Given the description of an element on the screen output the (x, y) to click on. 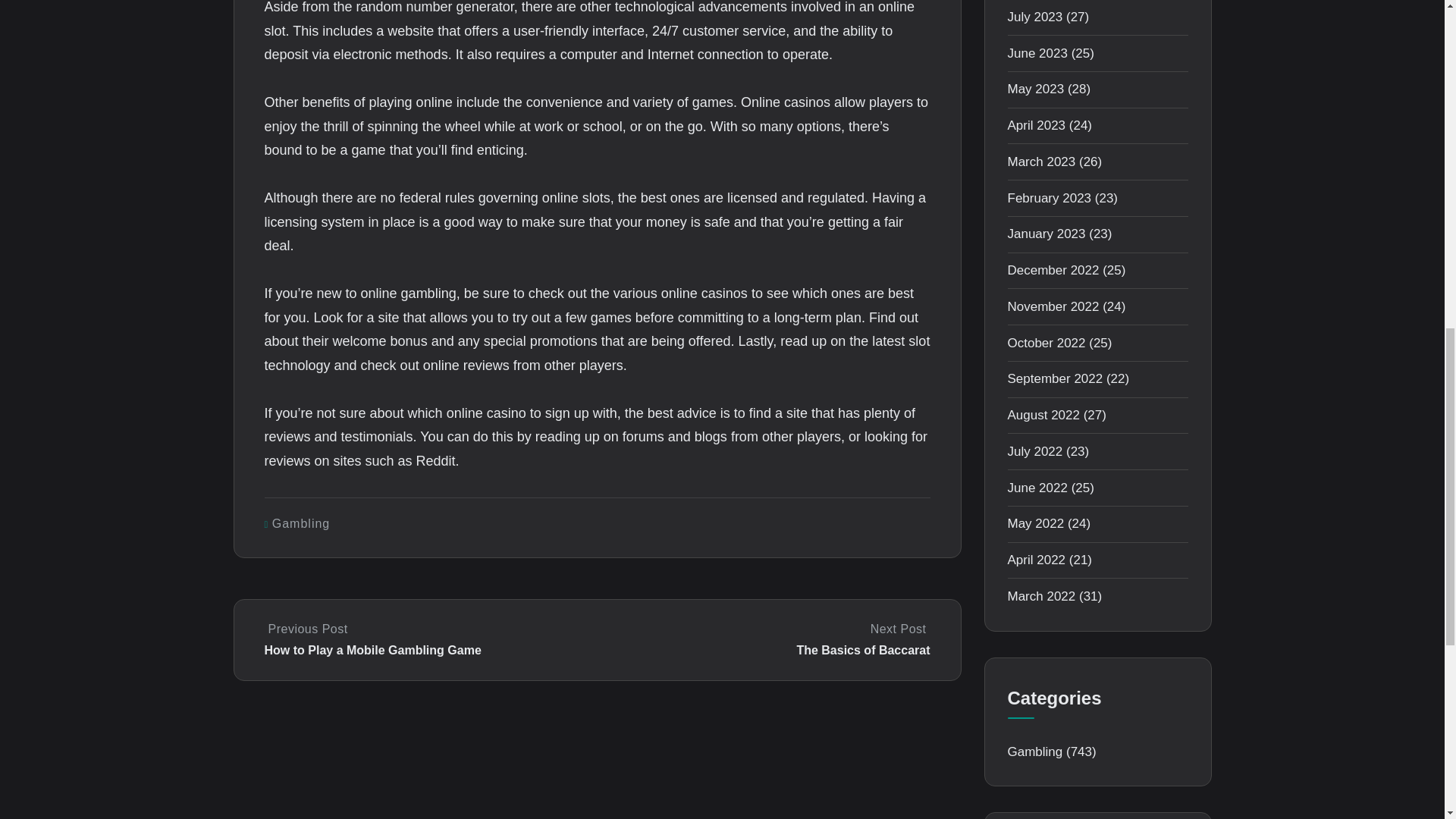
January 2023 (1045, 233)
July 2023 (1034, 16)
November 2022 (1053, 306)
April 2023 (1036, 124)
October 2022 (1045, 342)
March 2023 (1041, 161)
May 2023 (1035, 88)
Gambling (301, 522)
